Given the description of an element on the screen output the (x, y) to click on. 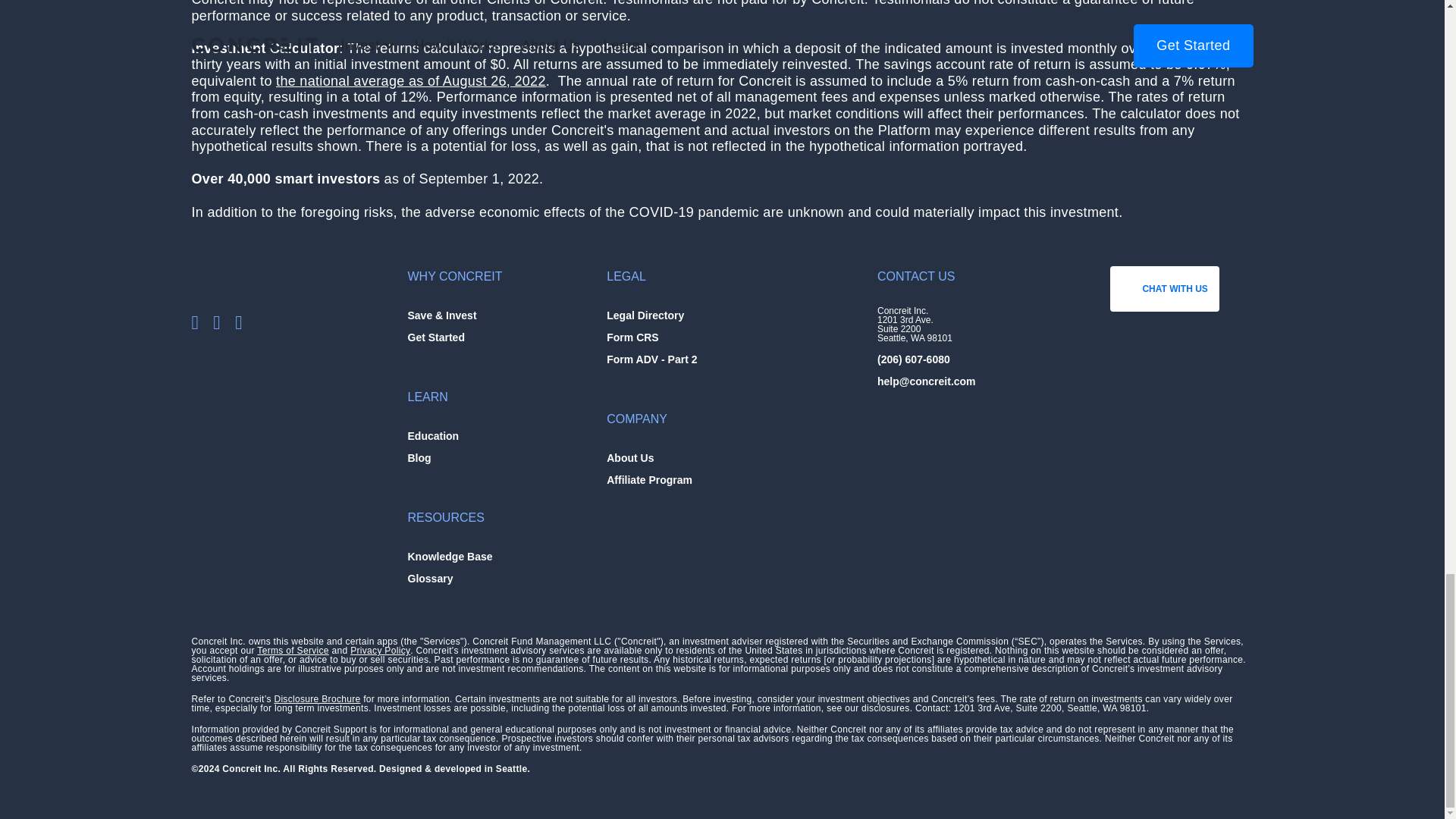
Form CRS (632, 335)
Disclosure Brochure (316, 698)
Legal Directory (645, 313)
Get Started (435, 335)
Knowledge Base (450, 554)
Glossary (429, 576)
Form ADV - Part 2 (652, 357)
the national average as of August 26, 2022 (411, 80)
Privacy Policy (380, 650)
CHAT WITH US (1163, 289)
Affiliate Program (650, 477)
Terms of Service (293, 650)
Education (433, 433)
About Us (630, 455)
Blog (418, 455)
